Given the description of an element on the screen output the (x, y) to click on. 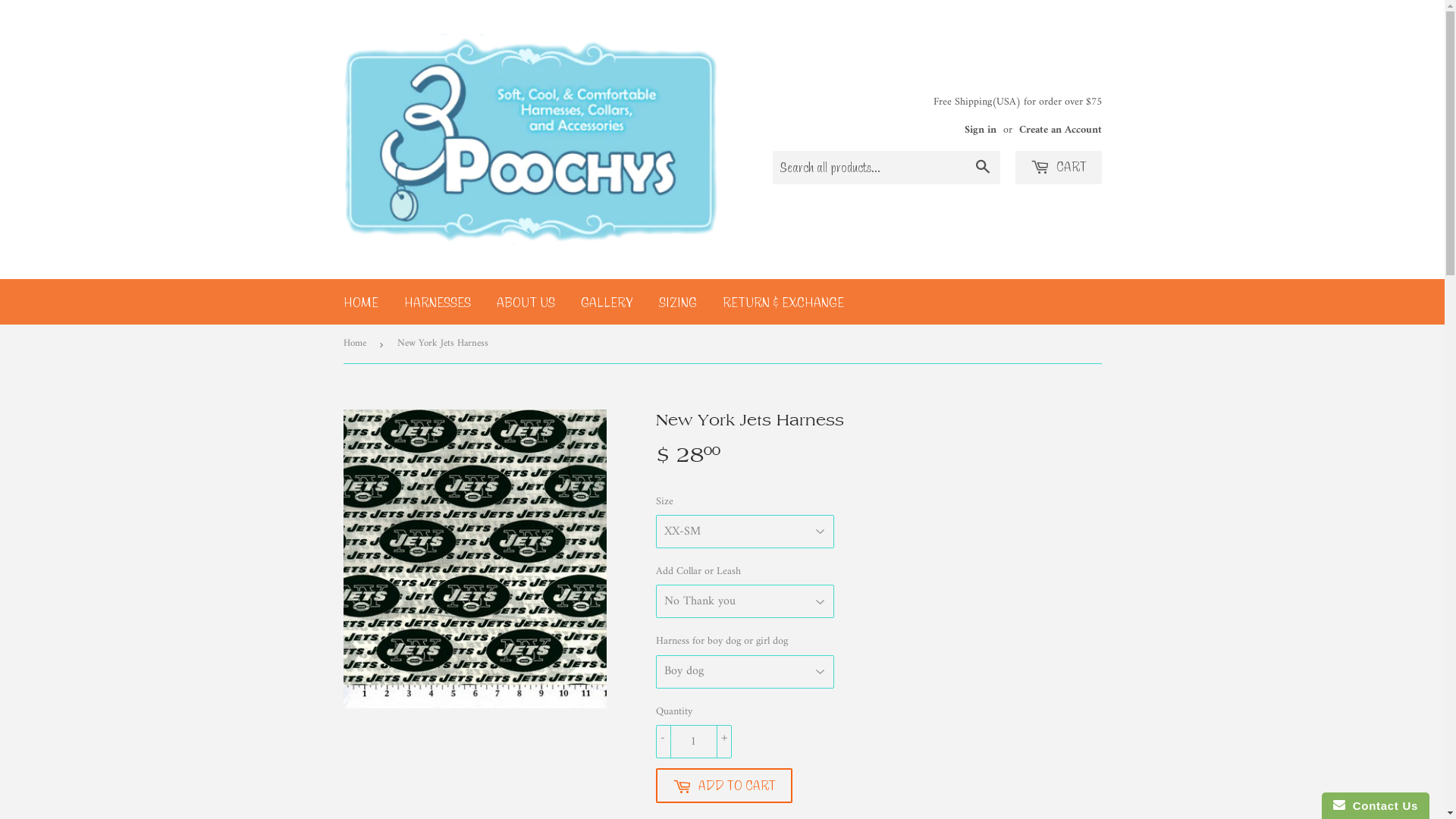
CART Element type: text (1057, 167)
Search Element type: text (983, 168)
RETURN & EXCHANGE Element type: text (783, 301)
ABOUT US Element type: text (525, 301)
Home Element type: text (356, 343)
HOME Element type: text (360, 301)
GALLERY Element type: text (605, 301)
Create an Account Element type: text (1060, 130)
ADD TO CART Element type: text (723, 785)
Sign in Element type: text (980, 130)
SIZING Element type: text (677, 301)
HARNESSES Element type: text (437, 301)
